Given the description of an element on the screen output the (x, y) to click on. 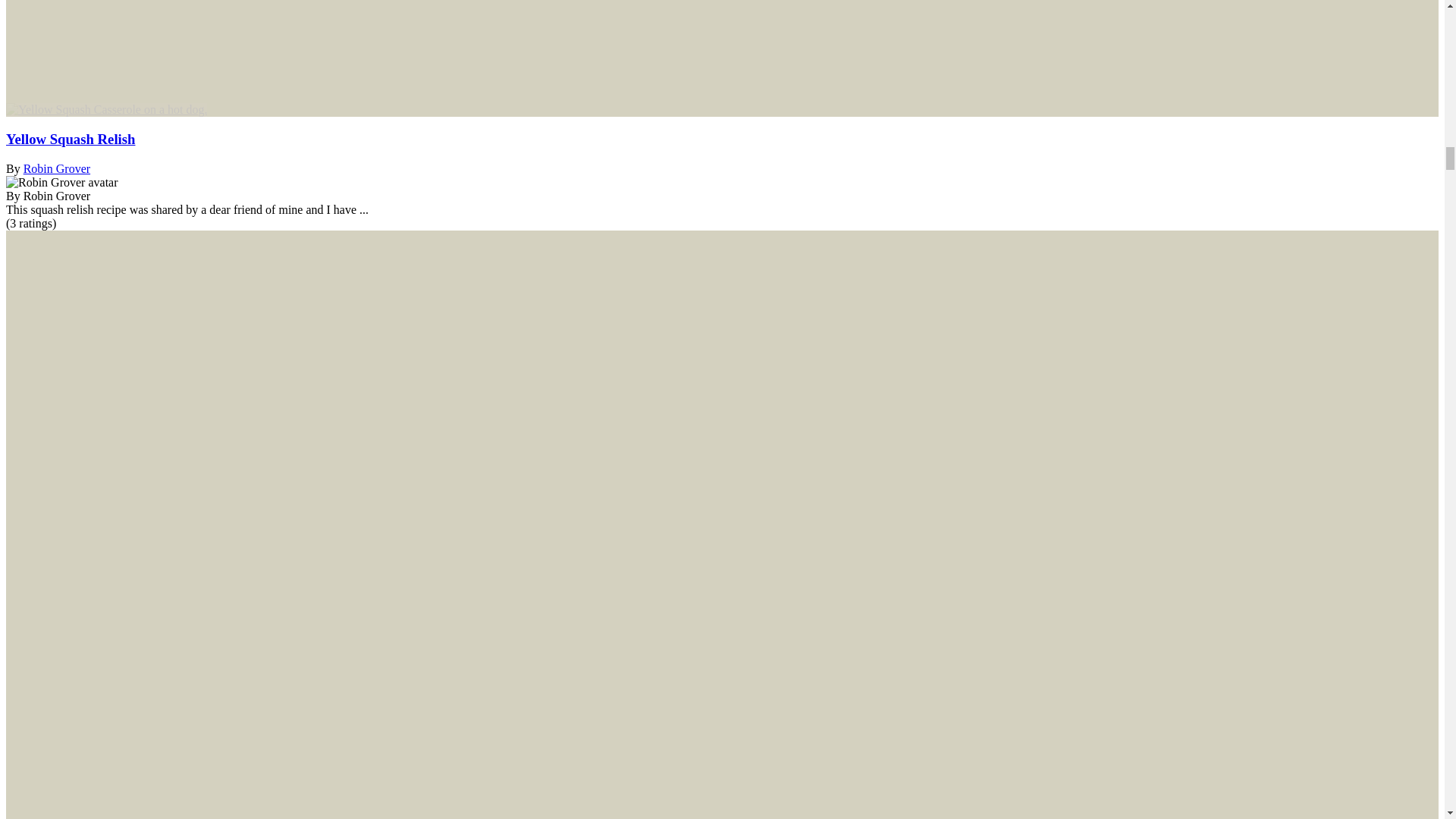
5 (30, 223)
Robin Grover (56, 168)
Yellow Squash Relish (70, 139)
Robin Grover (61, 182)
